Given the description of an element on the screen output the (x, y) to click on. 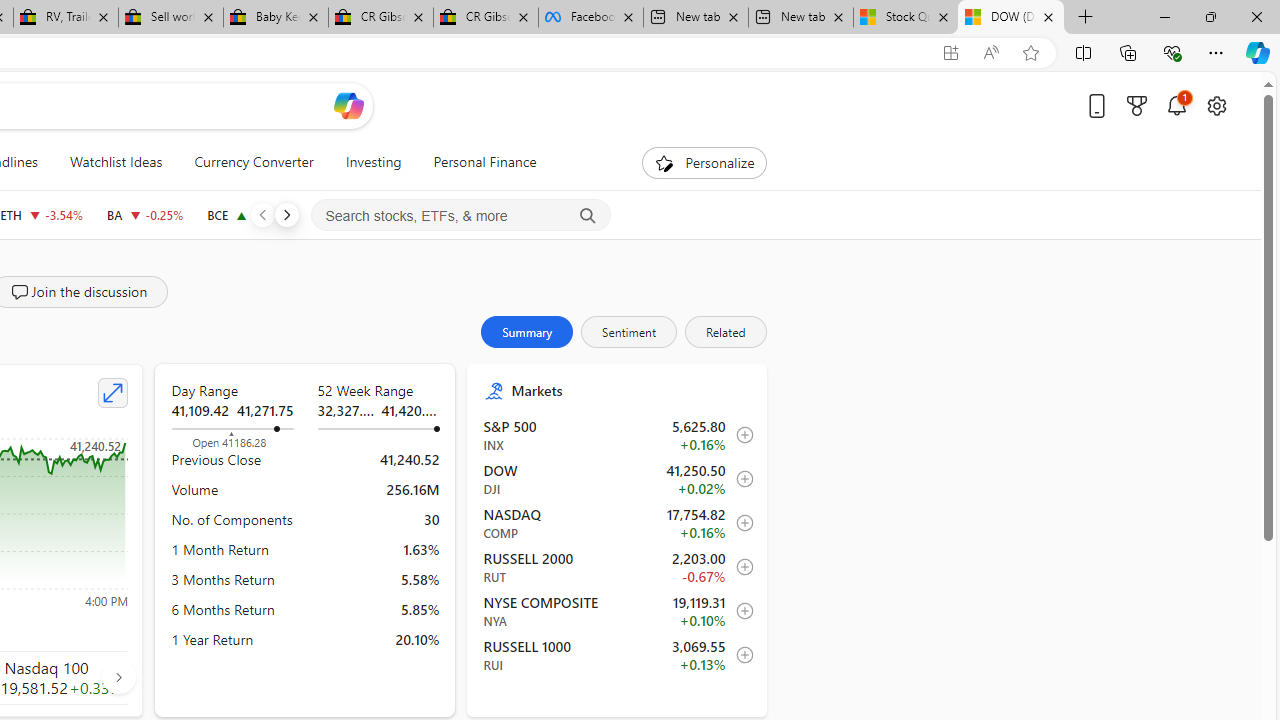
Sell worldwide with eBay (170, 17)
Baby Keepsakes & Announcements for sale | eBay (275, 17)
Personalize (703, 162)
Summary (527, 331)
Open settings (1216, 105)
App available. Install Start Money (950, 53)
Previous (262, 214)
Currency Converter (253, 162)
Search stocks, ETFs, & more (461, 215)
